Given the description of an element on the screen output the (x, y) to click on. 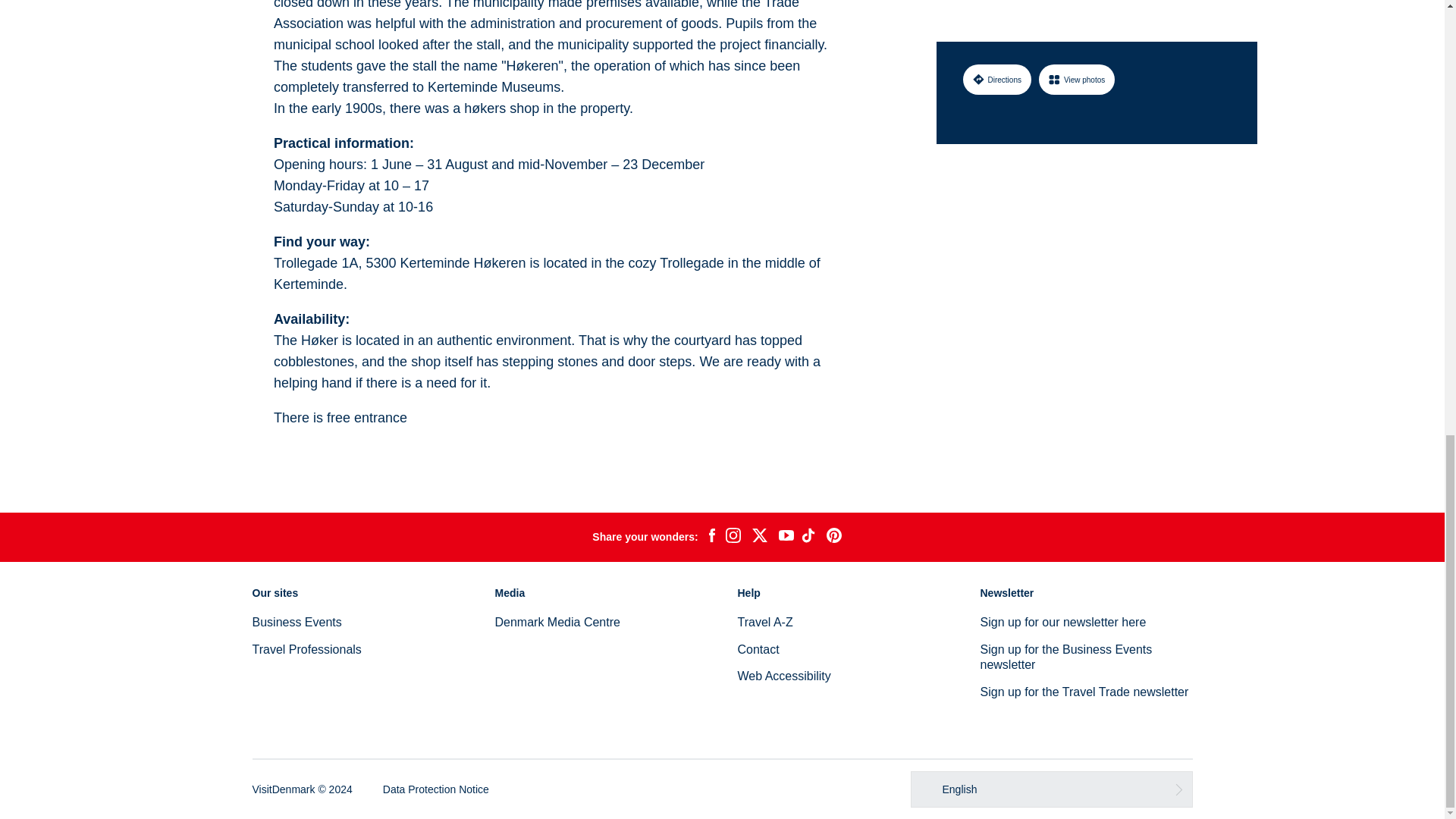
Business Events (295, 621)
Denmark Media Centre (557, 621)
Business Events (295, 621)
twitter (759, 537)
Contact (757, 649)
youtube (786, 537)
Sign up for the Business Events newsletter (1065, 656)
Contact (757, 649)
Web Accessibility (782, 675)
Travel A-Z (764, 621)
